Given the description of an element on the screen output the (x, y) to click on. 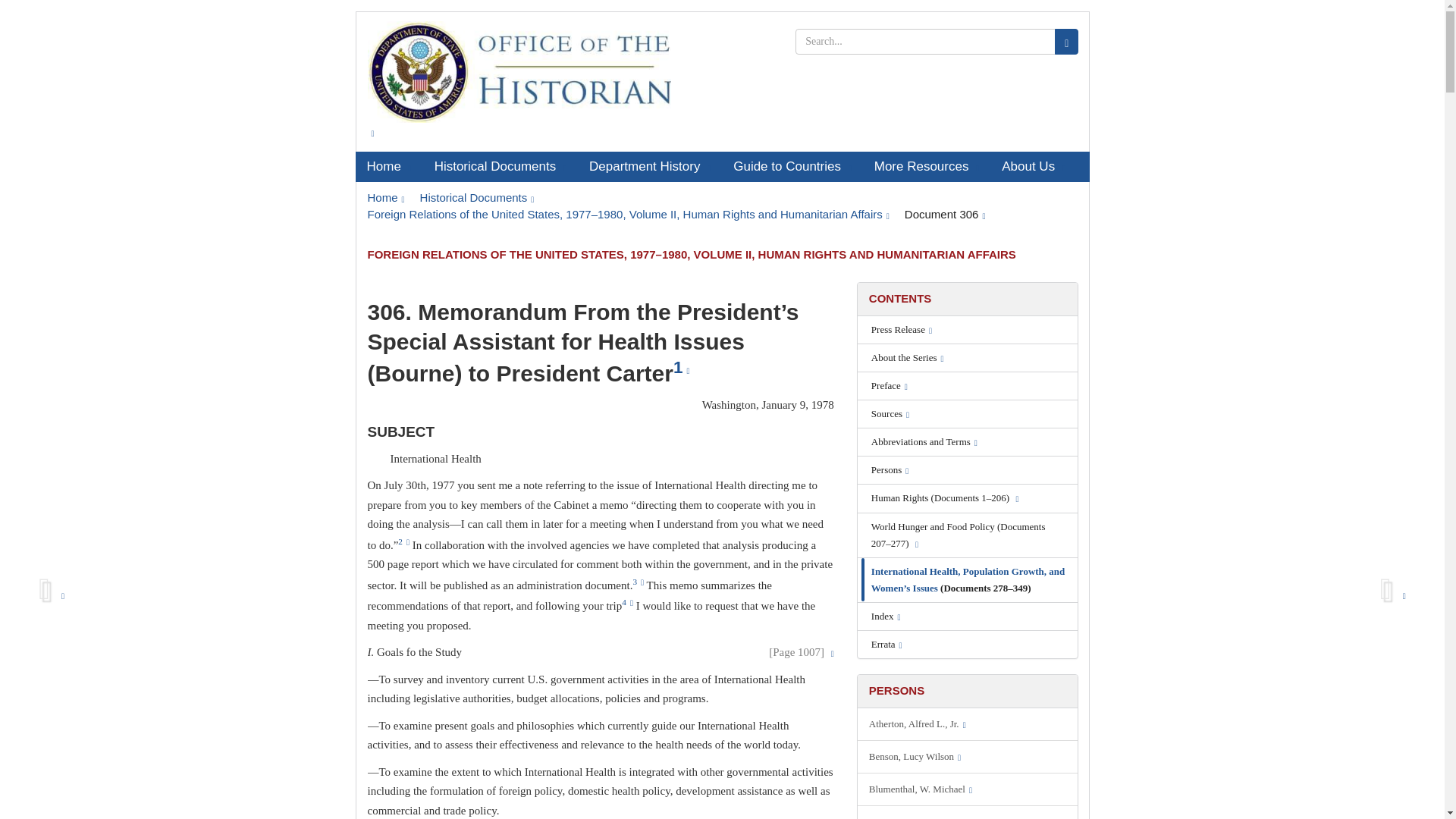
Home (388, 166)
Department History (650, 166)
Guide to Countries (792, 166)
Historical Documents (477, 196)
About Us (1033, 166)
More Resources (926, 166)
Home (385, 196)
Document 306 (944, 214)
Historical Documents (500, 166)
